Given the description of an element on the screen output the (x, y) to click on. 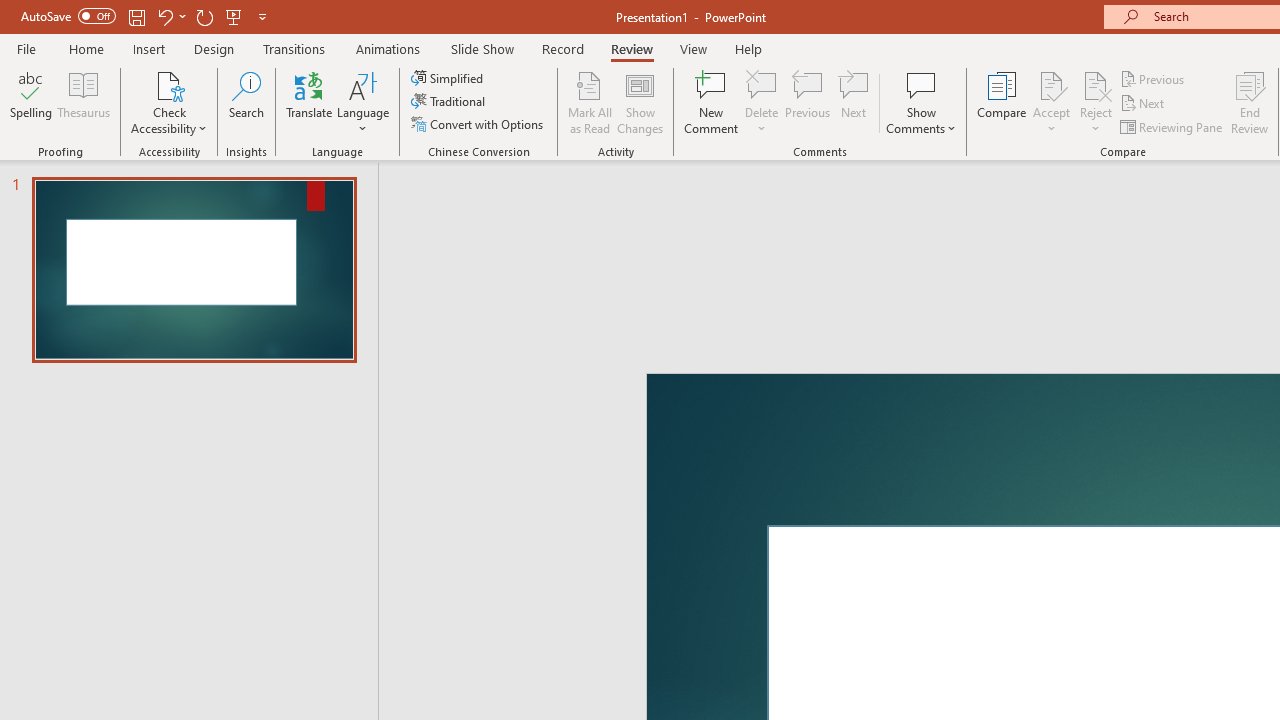
AutoSave (68, 16)
Translate (309, 102)
End Review (1249, 102)
Spelling... (31, 102)
Help (748, 48)
Simplified (449, 78)
Slide Show (481, 48)
Traditional (449, 101)
Show Comments (921, 84)
System (10, 11)
Delete (762, 102)
Show Comments (921, 102)
Review (631, 48)
Show Changes (639, 102)
